Given the description of an element on the screen output the (x, y) to click on. 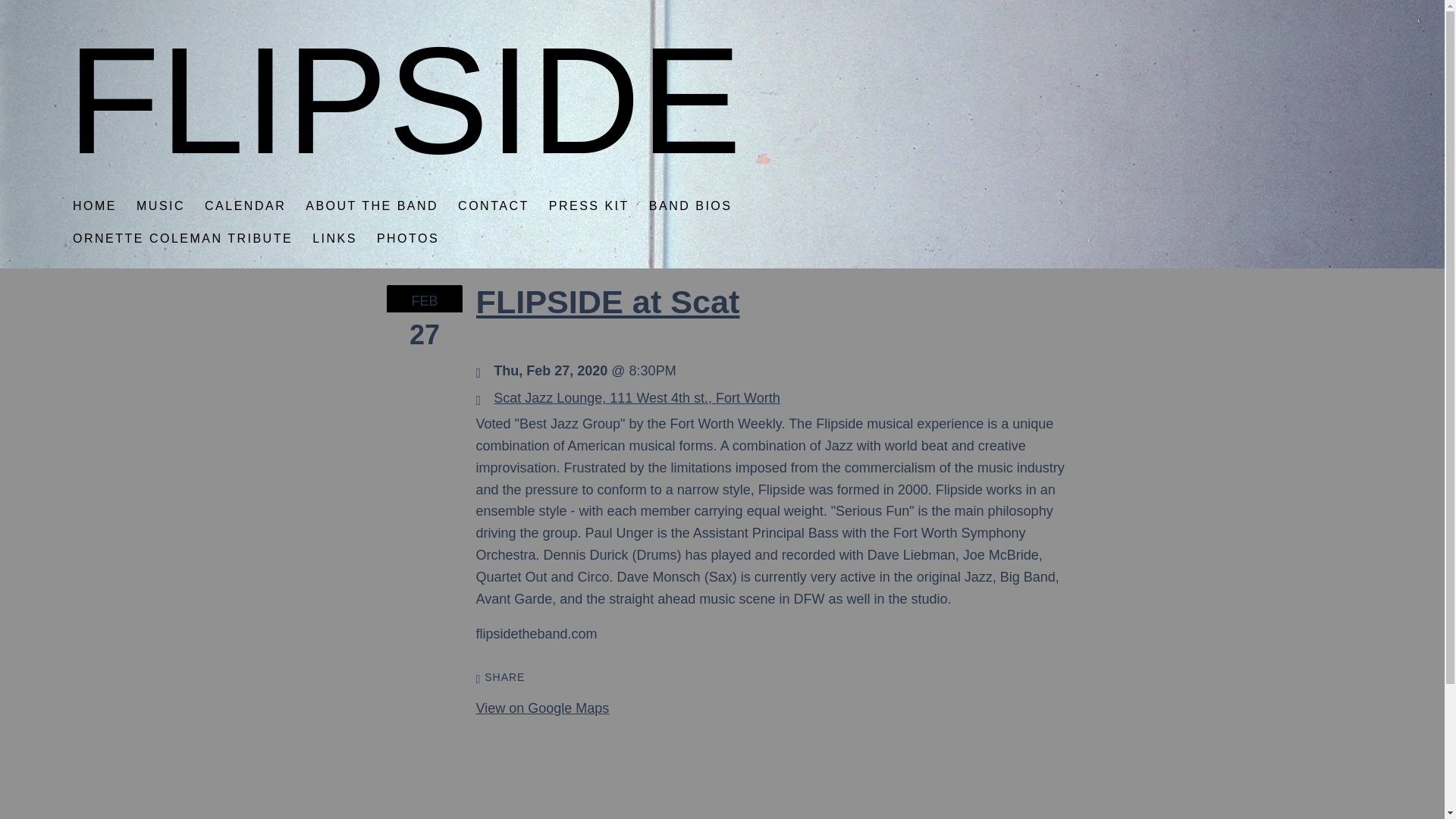
CALENDAR (245, 205)
ORNETTE COLEMAN TRIBUTE (182, 237)
CONTACT (493, 205)
PHOTOS (408, 237)
FLIPSIDE (403, 146)
BAND BIOS (690, 205)
ABOUT THE BAND (371, 205)
SHARE (500, 677)
FLIPSIDE at Scat (607, 301)
View on Google Maps (636, 397)
